Given the description of an element on the screen output the (x, y) to click on. 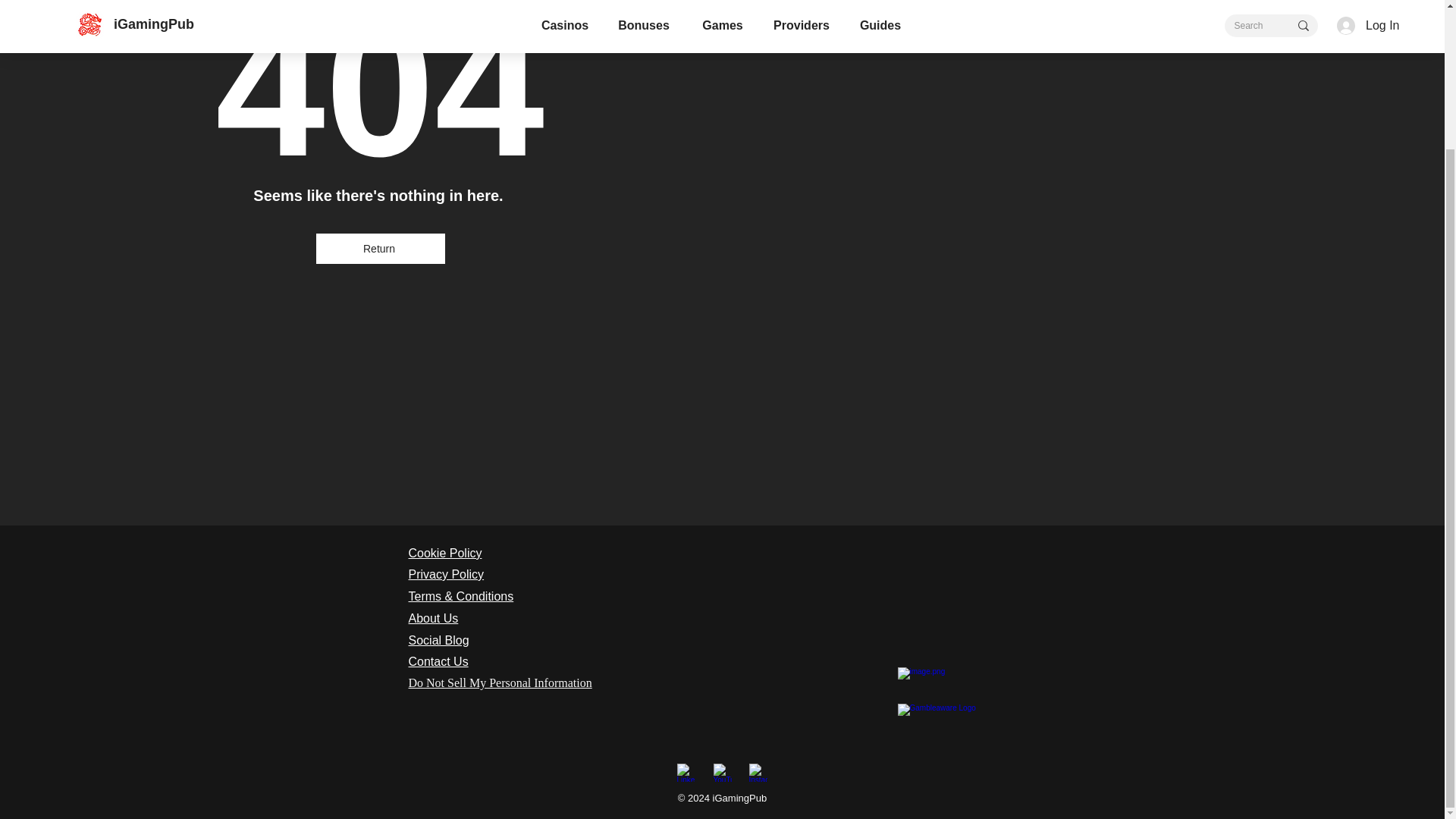
Social Blog (437, 640)
About Us (432, 617)
Do Not Sell My Personal Information (499, 682)
Privacy Policy (445, 574)
Contact Us (437, 661)
Return (380, 248)
Cookie Policy (444, 553)
